Given the description of an element on the screen output the (x, y) to click on. 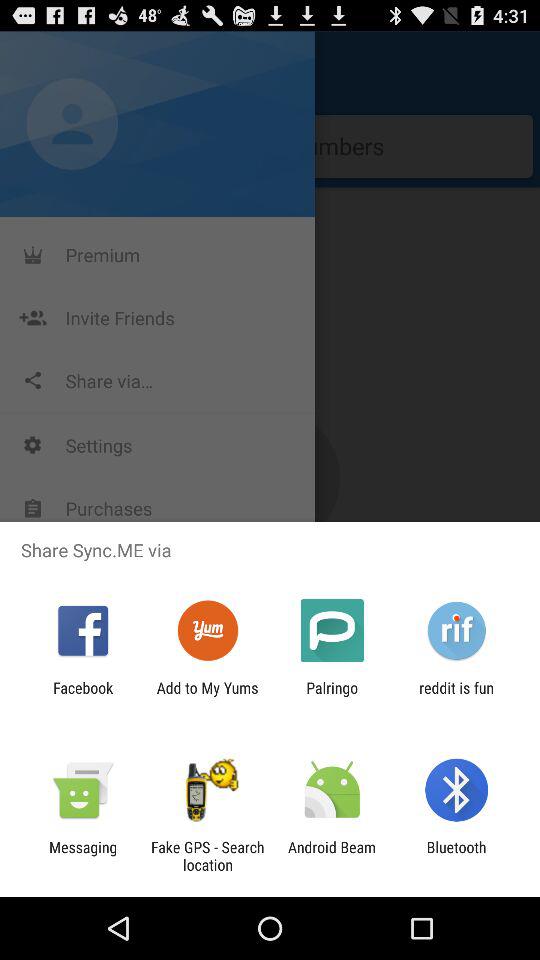
open icon to the left of reddit is fun app (332, 696)
